Given the description of an element on the screen output the (x, y) to click on. 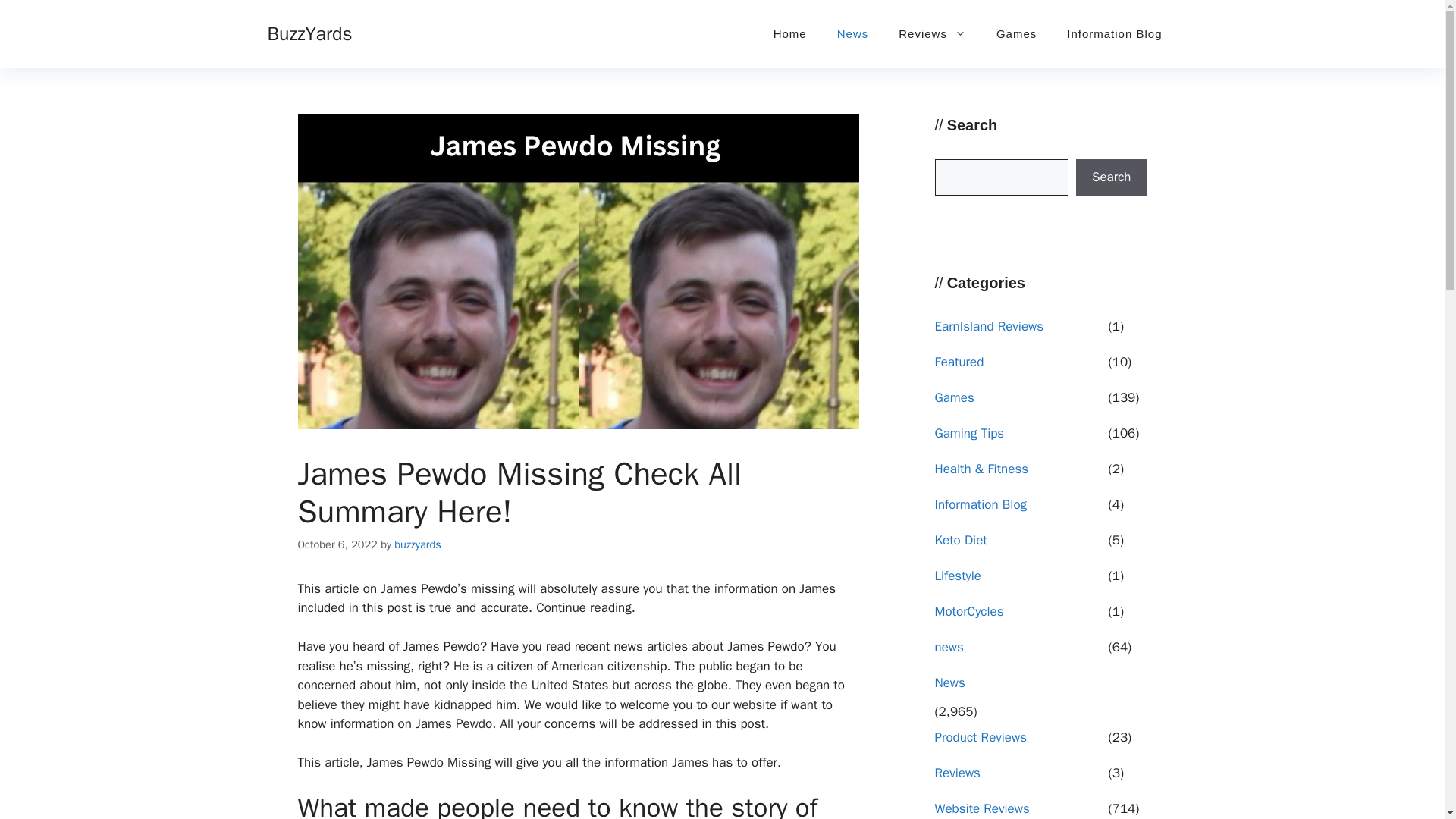
buzzyards (417, 544)
Reviews (1018, 778)
View all posts by buzzyards (417, 544)
MotorCycles (1018, 616)
Website Reviews (1018, 809)
news (1018, 651)
Search (1111, 176)
Information Blog (1113, 33)
Gaming Tips (1018, 437)
Home (790, 33)
